Given the description of an element on the screen output the (x, y) to click on. 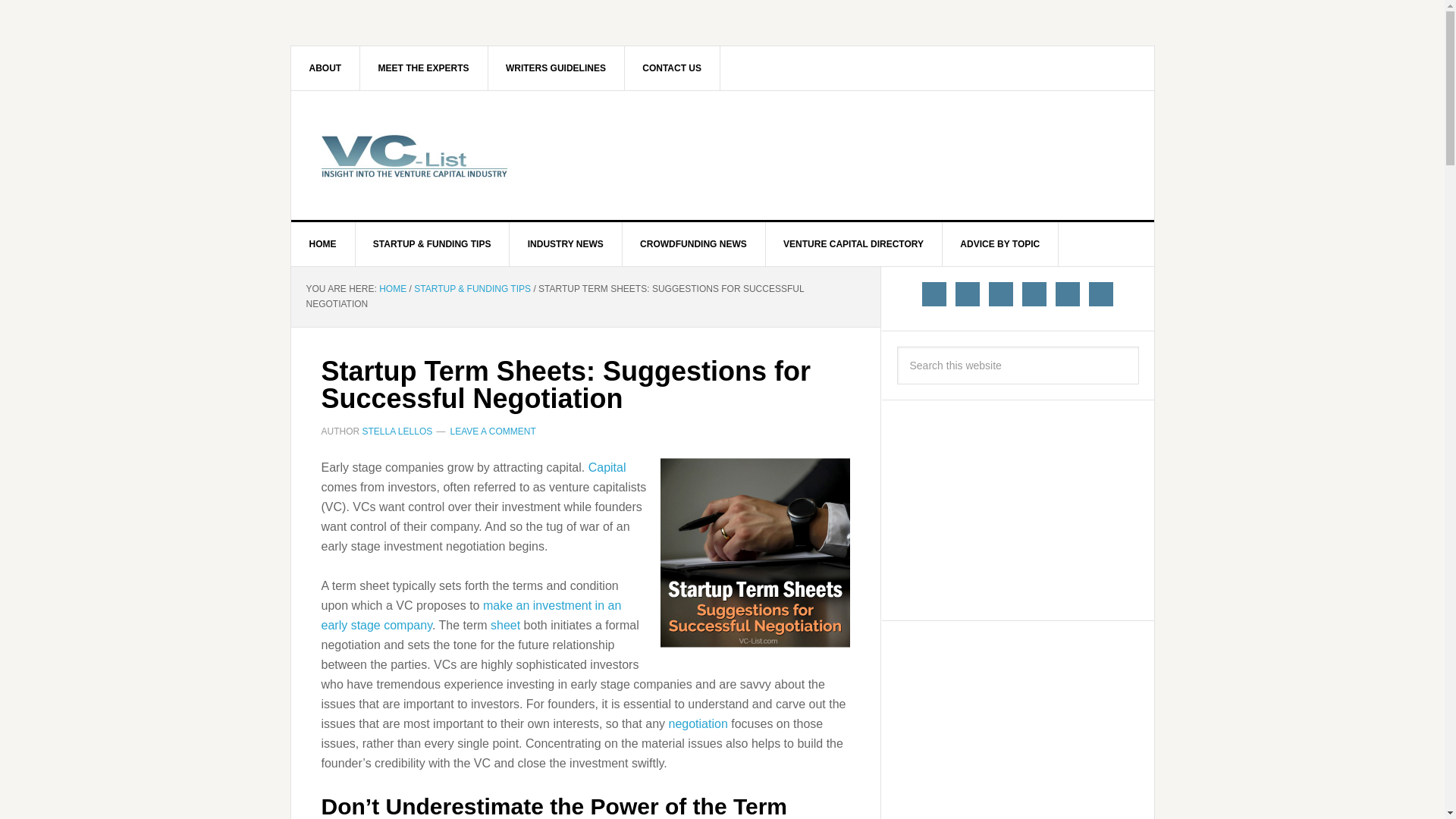
ADVICE BY TOPIC (1000, 243)
LEAVE A COMMENT (492, 430)
VC LIST (419, 155)
HOME (323, 243)
CONTACT US (672, 67)
WRITERS GUIDELINES (555, 67)
CROWDFUNDING NEWS (693, 243)
sheet (504, 625)
Advertisement (1010, 727)
Capital (607, 467)
